Given the description of an element on the screen output the (x, y) to click on. 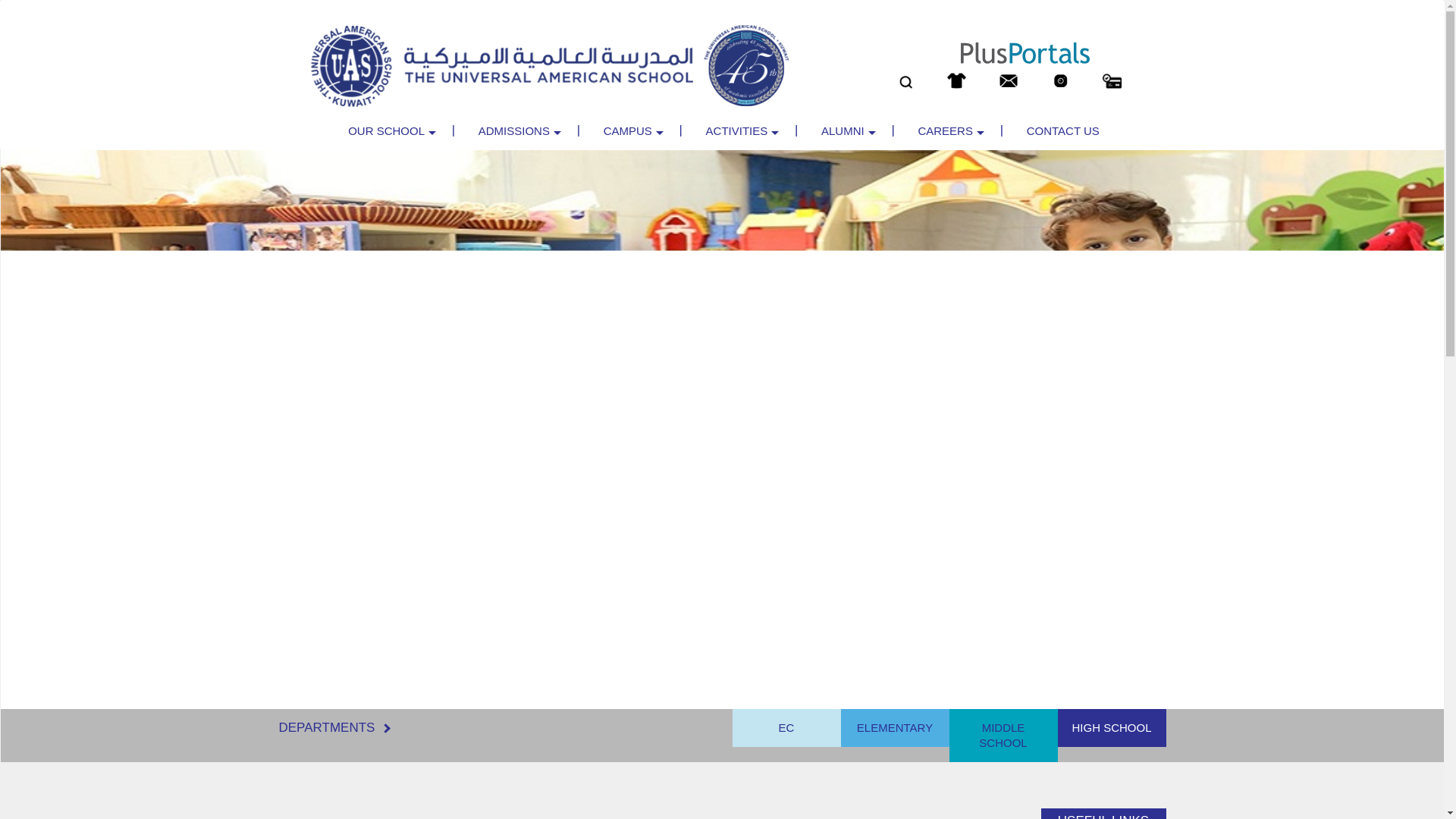
ADMISSIONS (513, 130)
OUR SCHOOL (385, 130)
CAMPUS (627, 130)
